Given the description of an element on the screen output the (x, y) to click on. 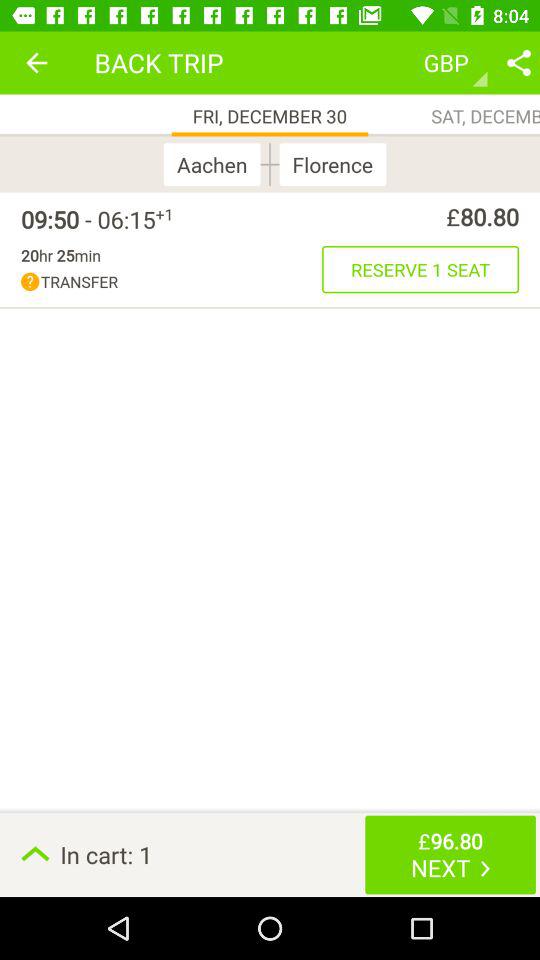
launch the reserve 1 seat icon (420, 269)
